Given the description of an element on the screen output the (x, y) to click on. 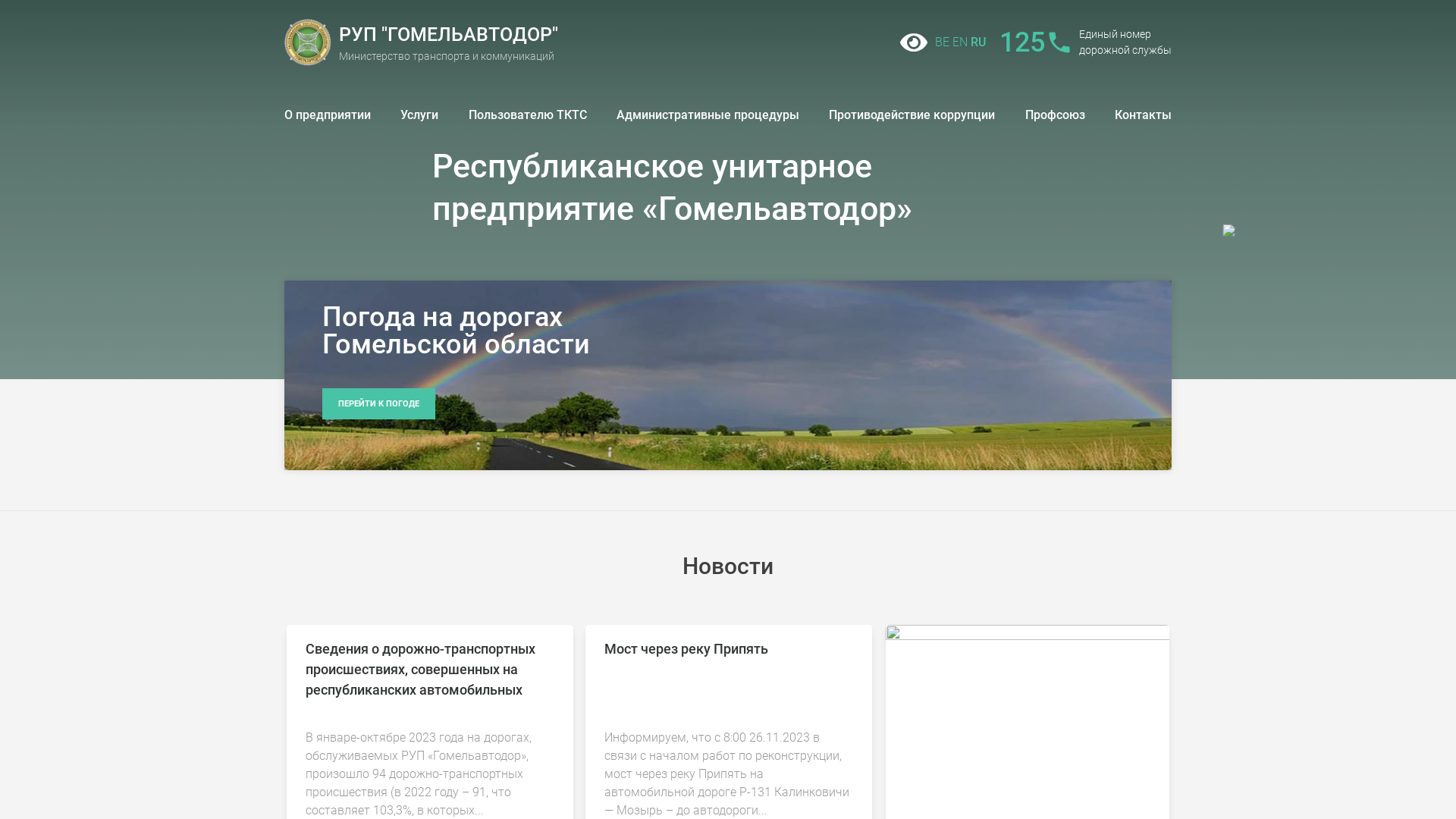
RU Element type: text (977, 41)
BE Element type: text (942, 41)
EN Element type: text (959, 41)
125 Element type: text (1034, 41)
